Given the description of an element on the screen output the (x, y) to click on. 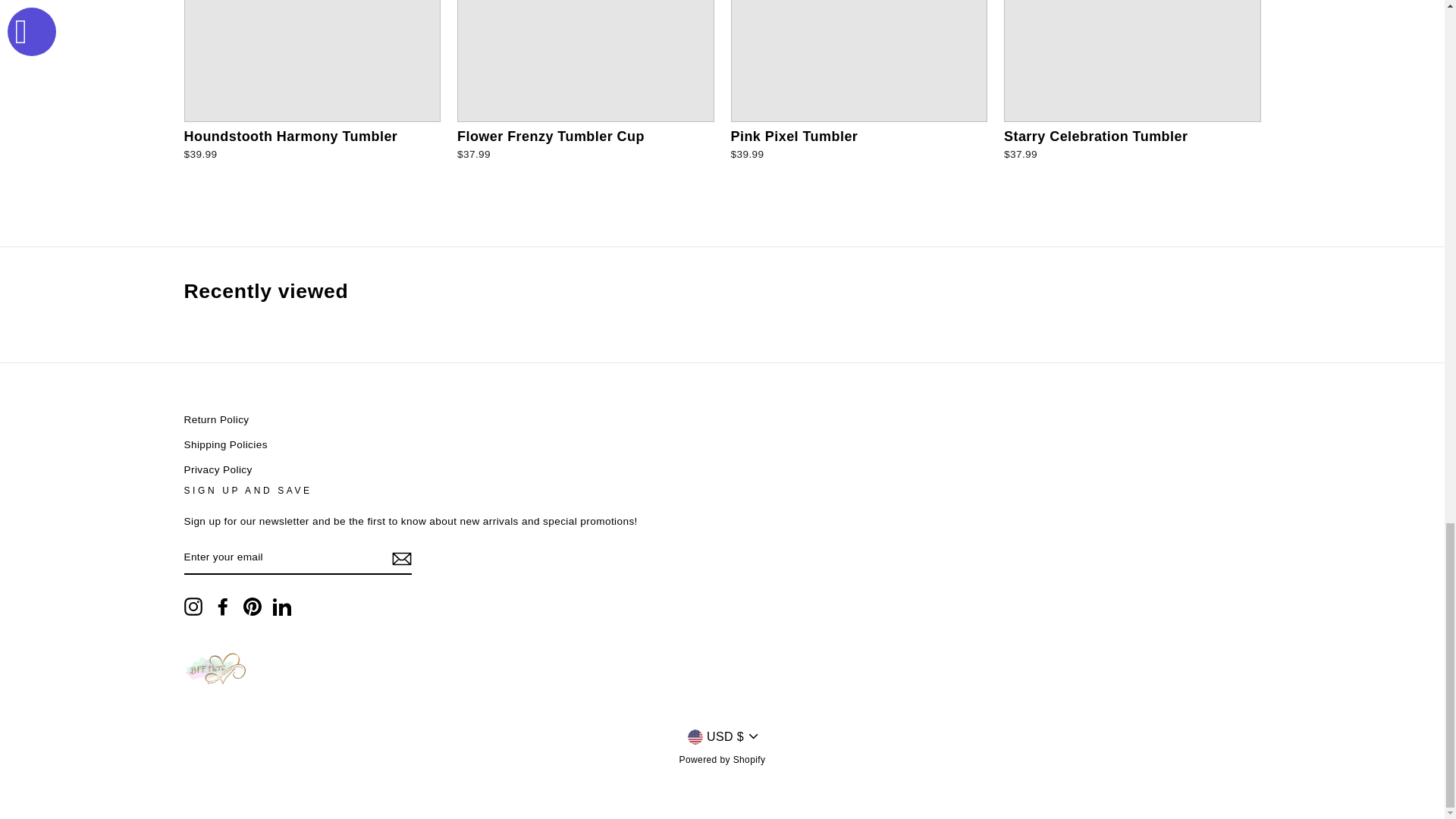
BFF Here on LinkedIn (282, 606)
BFF Here on Facebook (222, 606)
BFF Here on Pinterest (251, 606)
BFF Here on Instagram (192, 606)
